Given the description of an element on the screen output the (x, y) to click on. 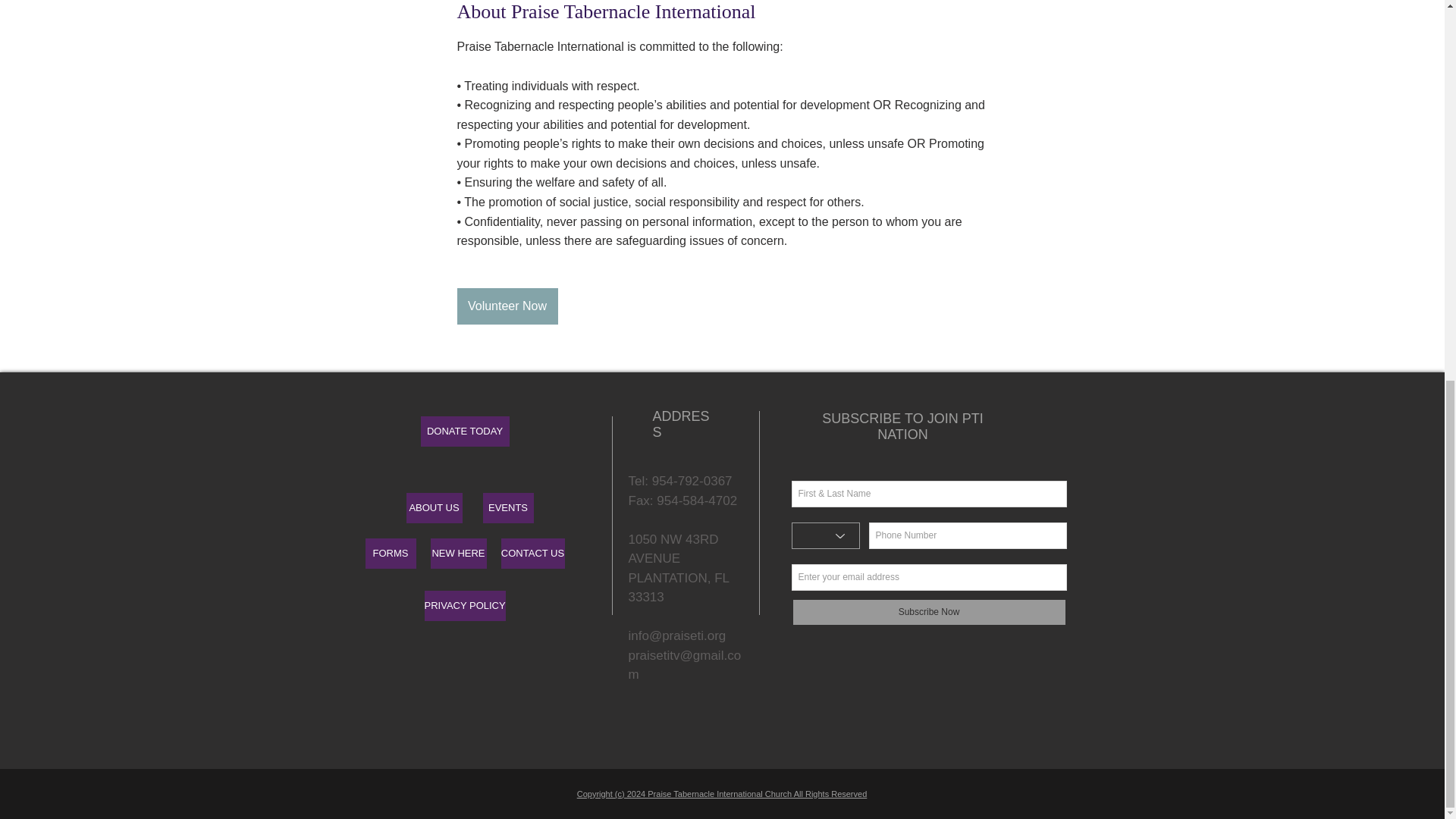
Subscribe Now (929, 612)
NEW HERE (458, 553)
CONTACT US (532, 553)
ABOUT US (434, 508)
FORMS (390, 553)
EVENTS (506, 508)
PRIVACY POLICY (465, 605)
DONATE TODAY (464, 431)
Volunteer Now (507, 306)
